Given the description of an element on the screen output the (x, y) to click on. 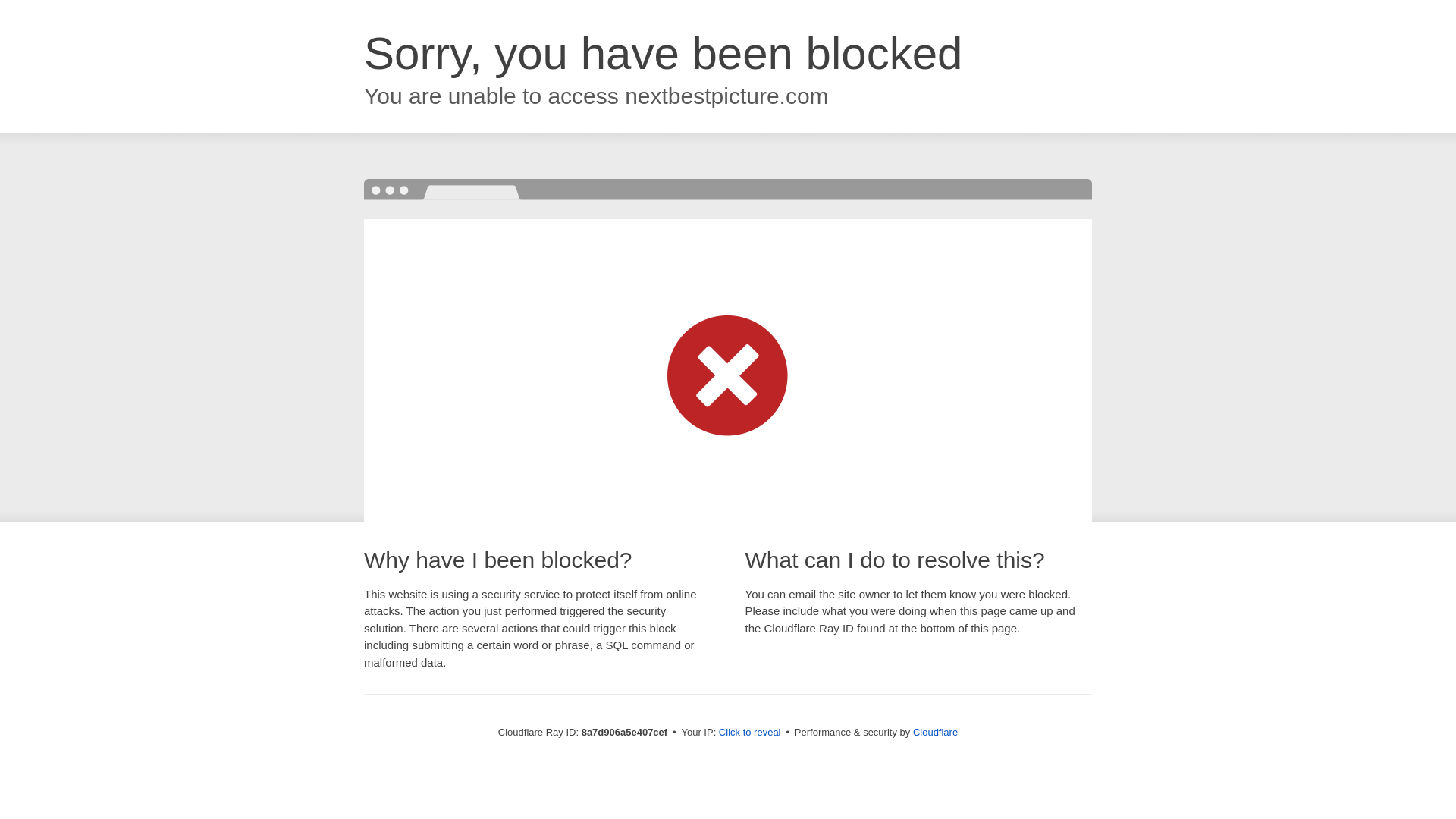
Click to reveal (749, 732)
Cloudflare (935, 731)
